Given the description of an element on the screen output the (x, y) to click on. 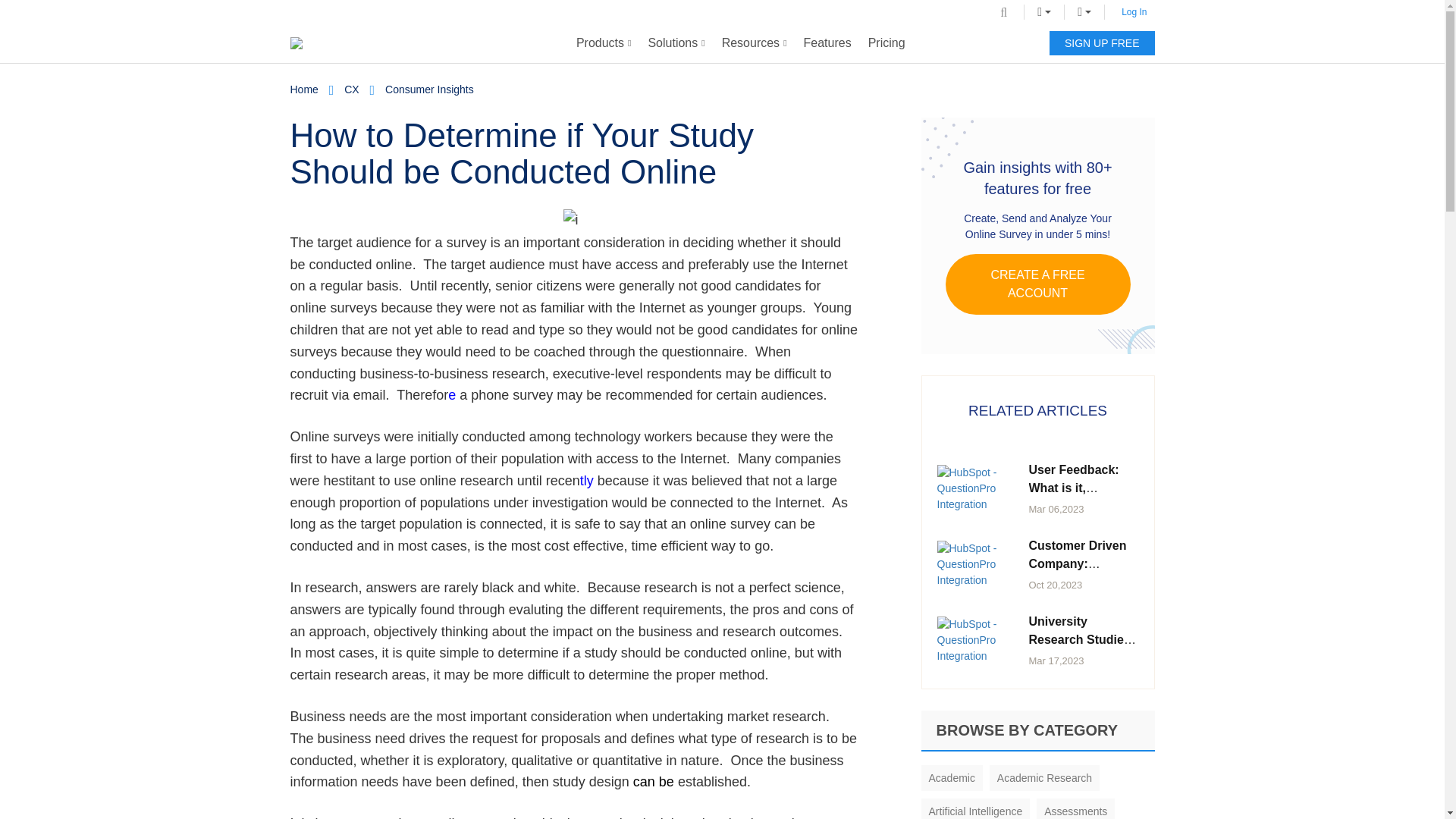
Solutions (676, 42)
Access key on a laptop (573, 220)
Resources (753, 42)
Features (827, 42)
Pricing (887, 42)
Products (603, 42)
